Given the description of an element on the screen output the (x, y) to click on. 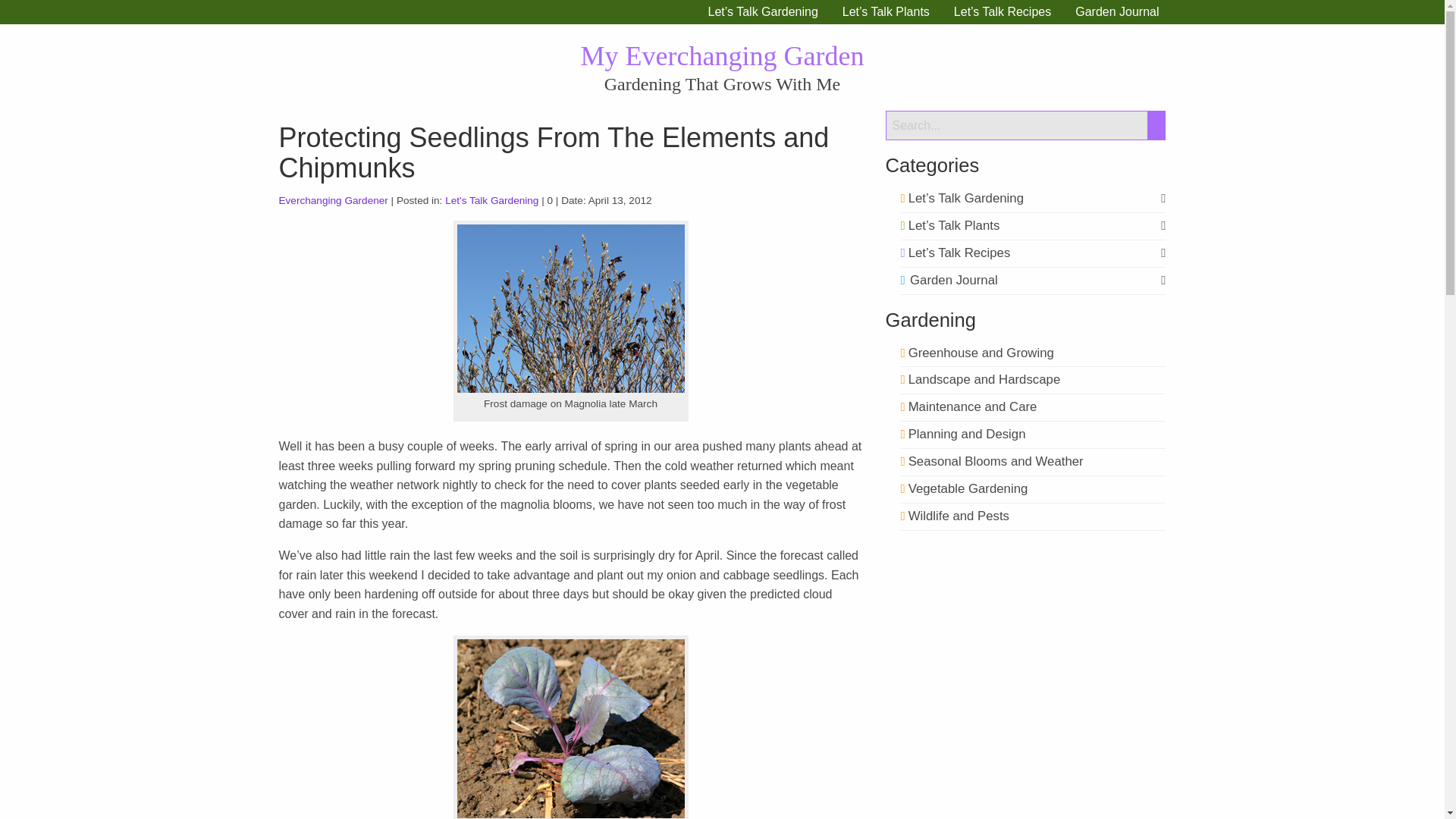
Seasonal Blooms and Weather (992, 461)
Everchanging Gardener (333, 200)
Garden Journal (1116, 12)
Let's Talk Gardening (491, 200)
Greenhouse and Growing (977, 352)
frost-magnolia (570, 308)
cabbage-seedling (570, 728)
My Everchanging Garden (722, 55)
Garden Journal (949, 279)
Landscape and Hardscape (981, 379)
